Given the description of an element on the screen output the (x, y) to click on. 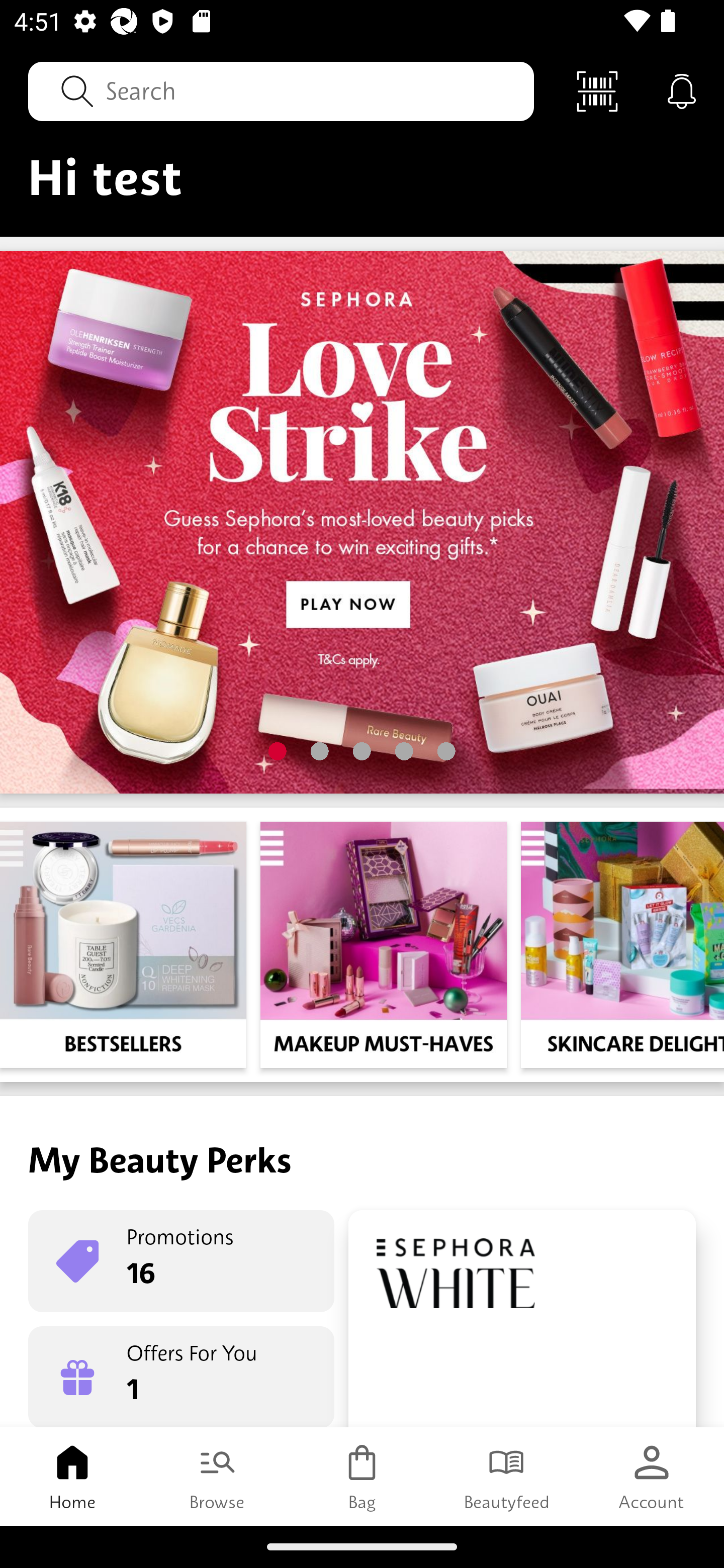
Scan Code (597, 90)
Notifications (681, 90)
Search (281, 90)
Promotions 16 (181, 1261)
Rewards Boutique 90 Pts (521, 1318)
Offers For You 1 (181, 1376)
Browse (216, 1475)
Bag (361, 1475)
Beautyfeed (506, 1475)
Account (651, 1475)
